Given the description of an element on the screen output the (x, y) to click on. 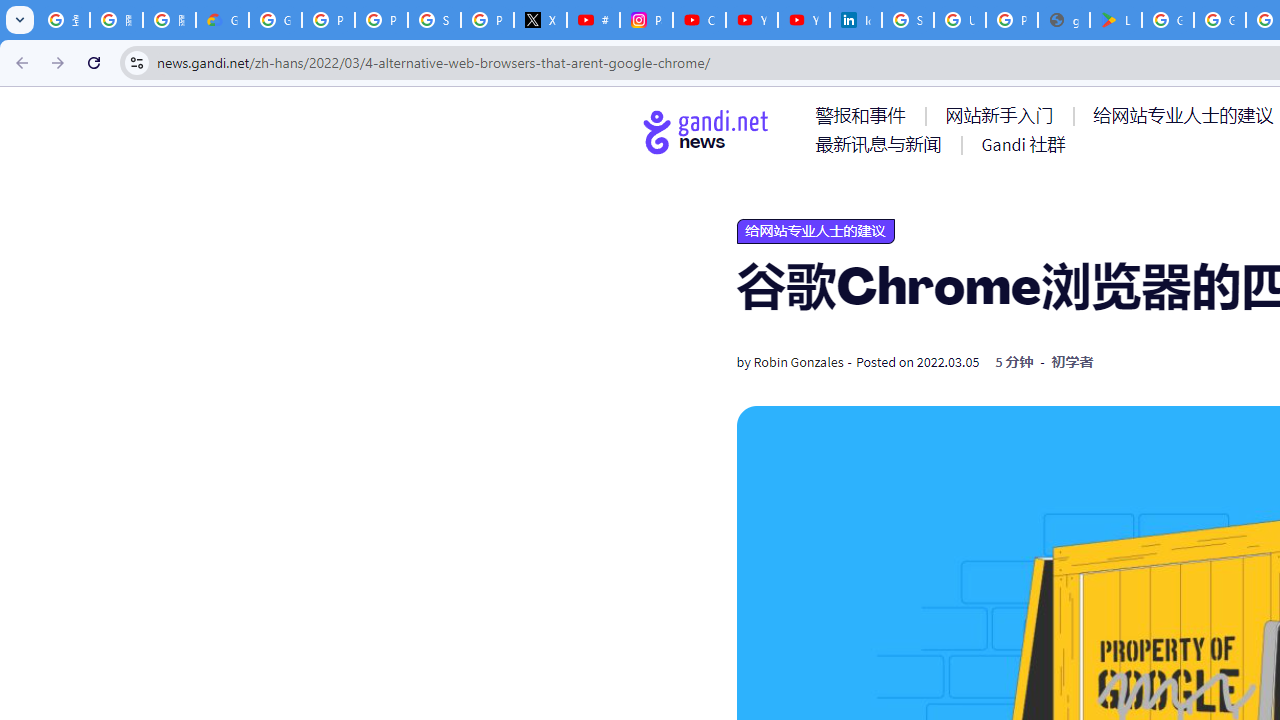
AutomationID: menu-item-77766 (882, 143)
AutomationID: menu-item-77761 (863, 115)
AutomationID: menu-item-77767 (1022, 143)
google_privacy_policy_en.pdf (1064, 20)
